Given the description of an element on the screen output the (x, y) to click on. 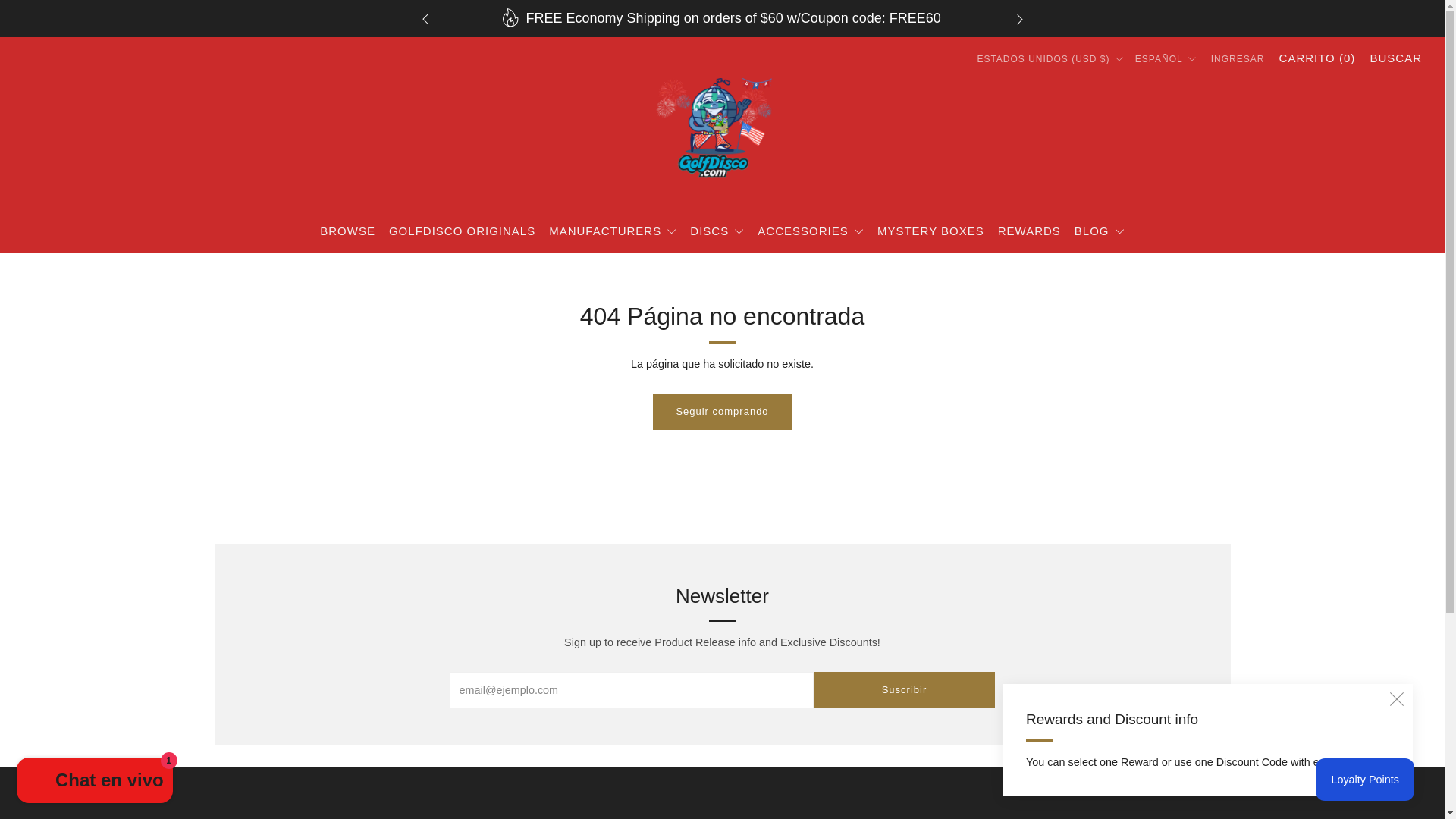
DISCS (717, 231)
Chat de la tienda online Shopify (94, 781)
MANUFACTURERS (612, 231)
GOLFDISCO ORIGINALS (461, 231)
ACCESSORIES (810, 231)
BROWSE (347, 231)
